Given the description of an element on the screen output the (x, y) to click on. 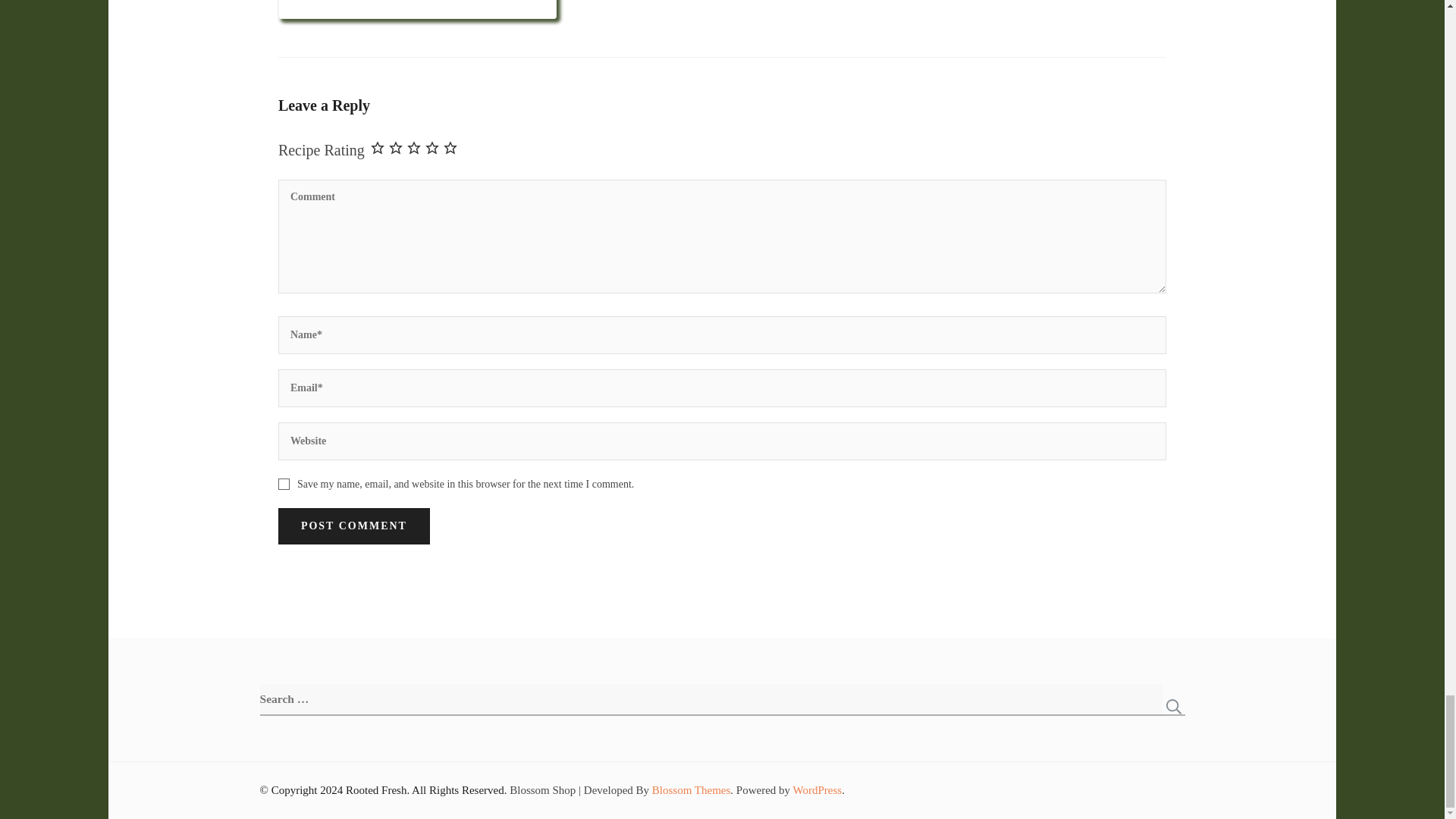
Post Comment (353, 525)
